Given the description of an element on the screen output the (x, y) to click on. 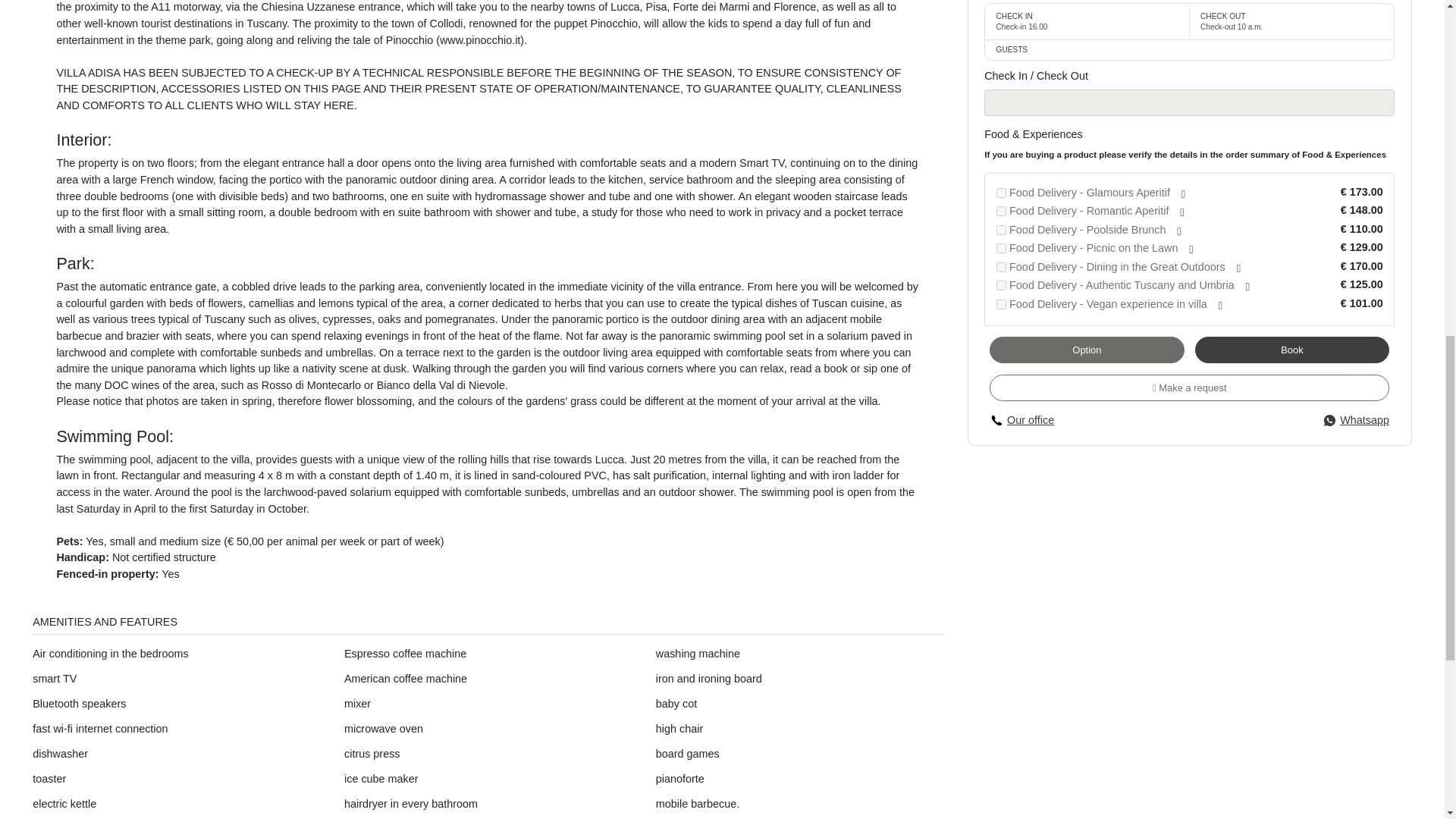
on (1000, 193)
on (1000, 230)
on (1000, 285)
on (1000, 303)
on (1000, 248)
on (1000, 211)
on (1000, 266)
